Given the description of an element on the screen output the (x, y) to click on. 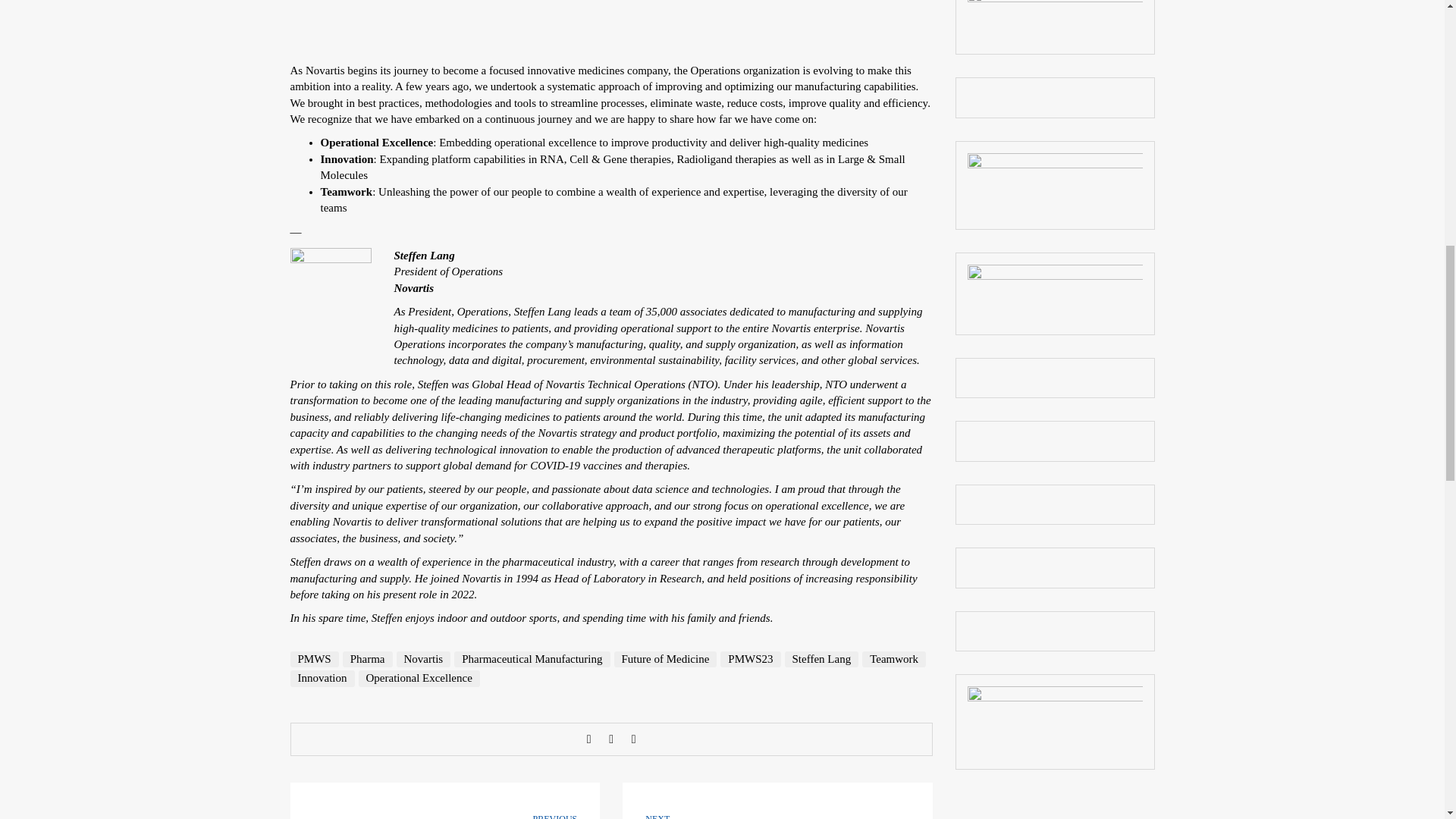
Novartis (423, 659)
Pharmaceutical Manufacturing (532, 659)
Tweet this (611, 739)
Share this (589, 739)
Pharma (367, 659)
PMWS (313, 659)
Share with Google Plus (633, 739)
